Given the description of an element on the screen output the (x, y) to click on. 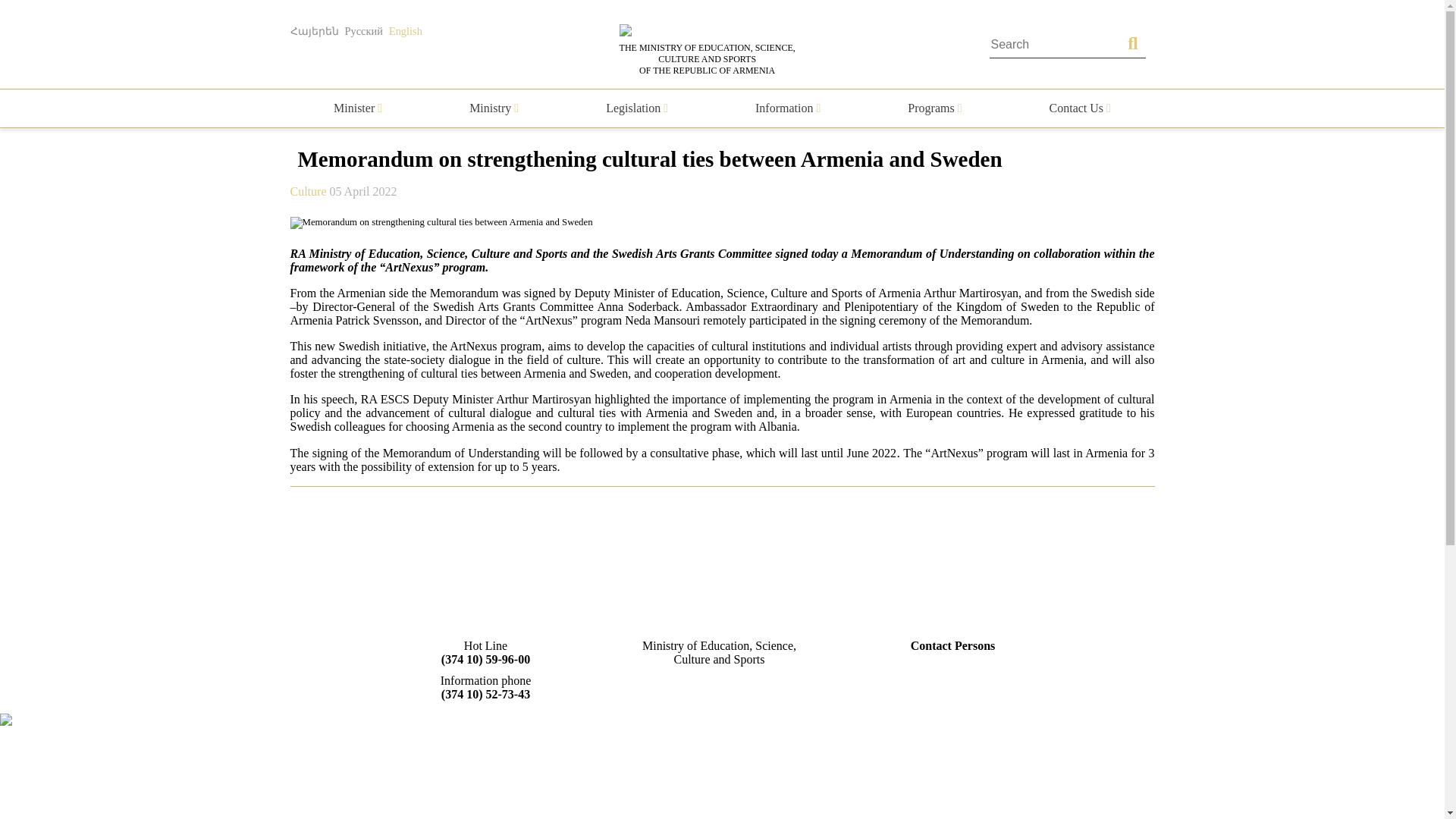
Ministry (493, 108)
Contact Us (1079, 108)
Information (788, 108)
Minister (357, 108)
English (405, 30)
Programs (933, 108)
Legislation (636, 108)
